Given the description of an element on the screen output the (x, y) to click on. 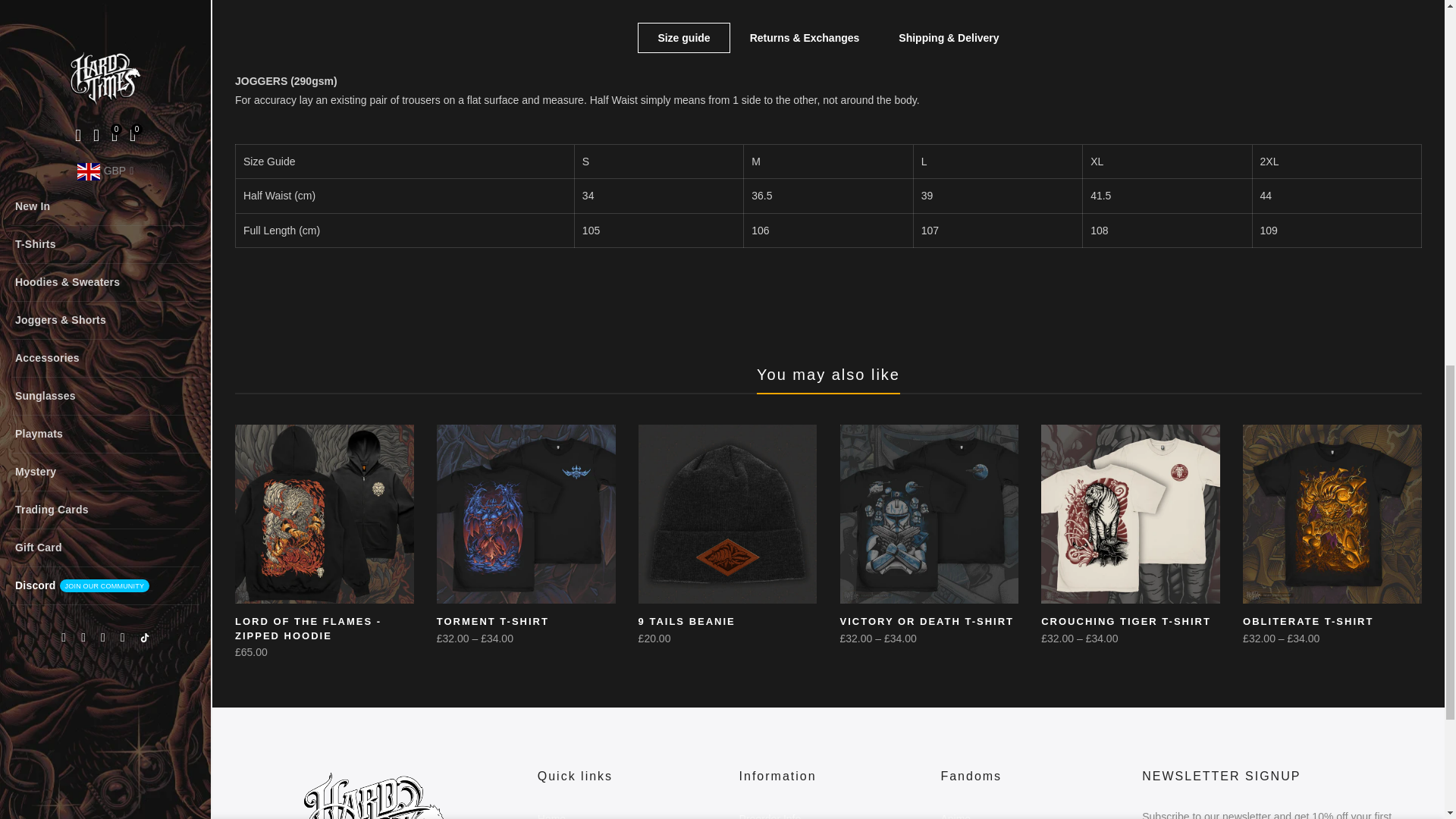
1 (1256, 35)
